Given the description of an element on the screen output the (x, y) to click on. 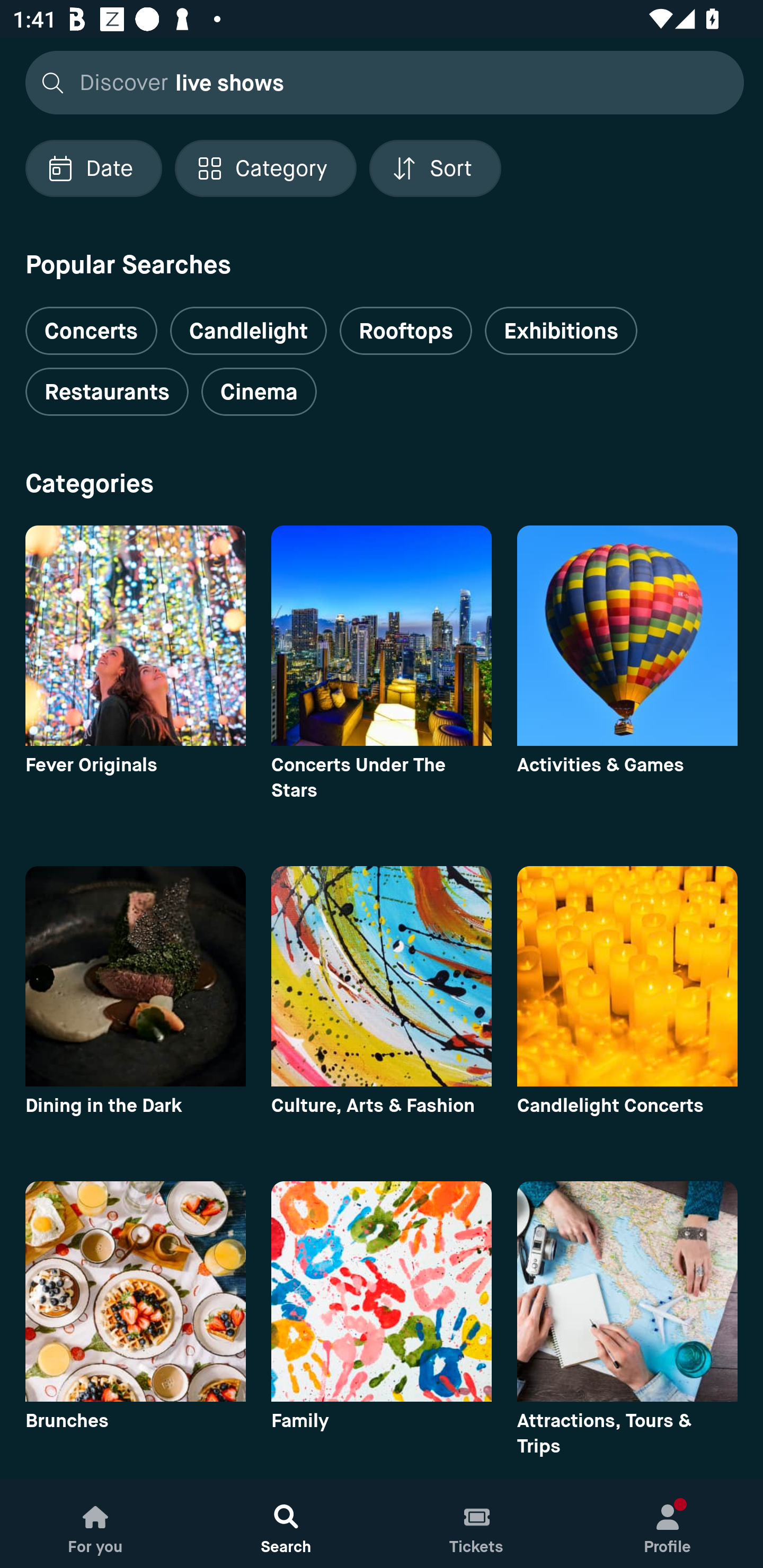
Discover live shows (379, 81)
Localized description Date (93, 168)
Localized description Category (265, 168)
Localized description Sort (435, 168)
Concerts (91, 323)
Candlelight (248, 330)
Rooftops (405, 330)
Exhibitions (560, 330)
Restaurants (106, 391)
Cinema (258, 391)
category image (135, 635)
category image (381, 635)
category image (627, 635)
category image (135, 975)
category image (381, 975)
category image (627, 975)
category image (135, 1290)
category image (381, 1290)
category image (627, 1290)
For you (95, 1523)
Tickets (476, 1523)
Profile, New notification Profile (667, 1523)
